Given the description of an element on the screen output the (x, y) to click on. 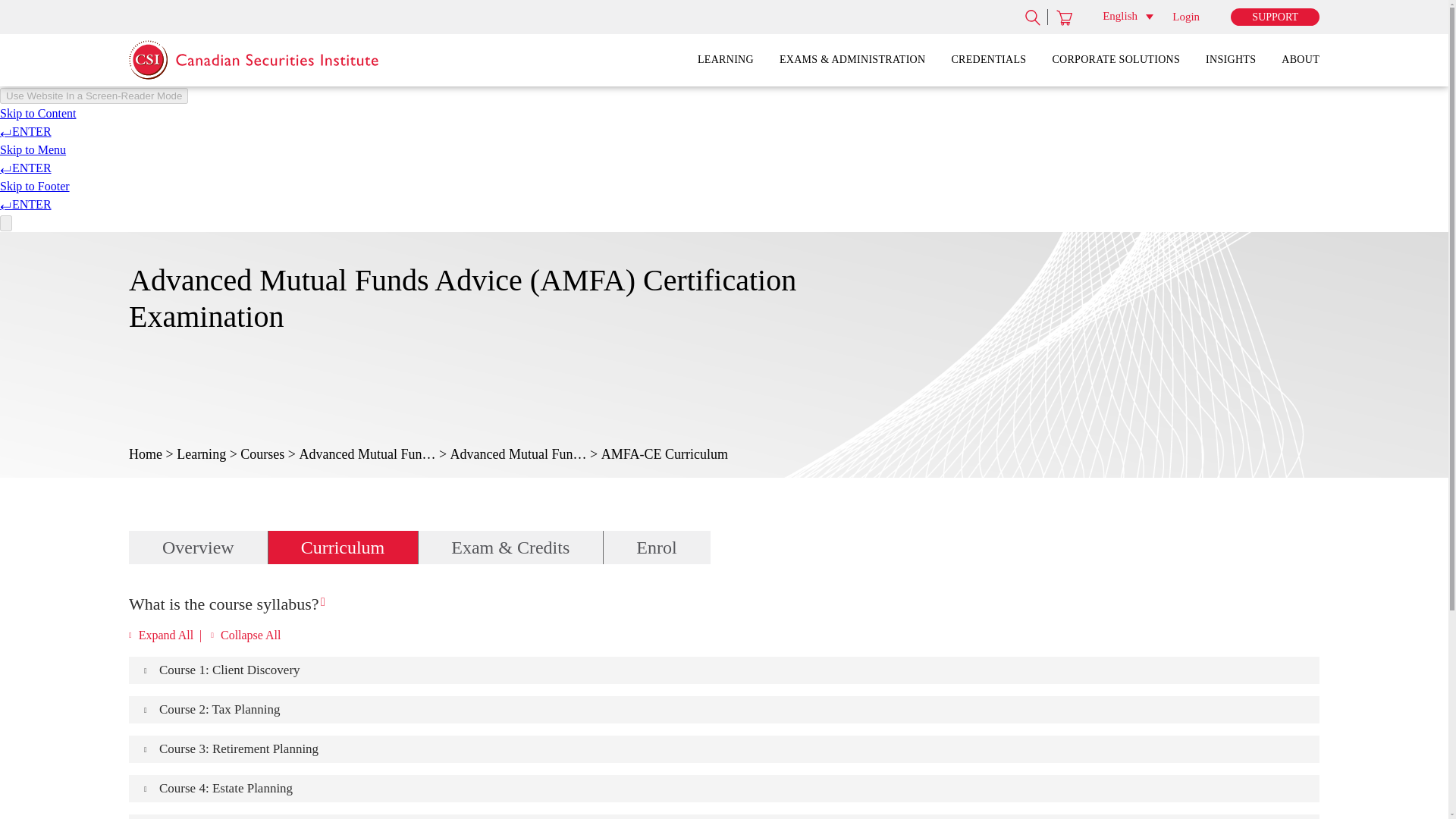
Login (1185, 16)
LEARNING (725, 60)
SUPPORT (1274, 16)
English (1127, 15)
Canadian Securities Institute Home (229, 57)
SUPPORT (1274, 16)
